Given the description of an element on the screen output the (x, y) to click on. 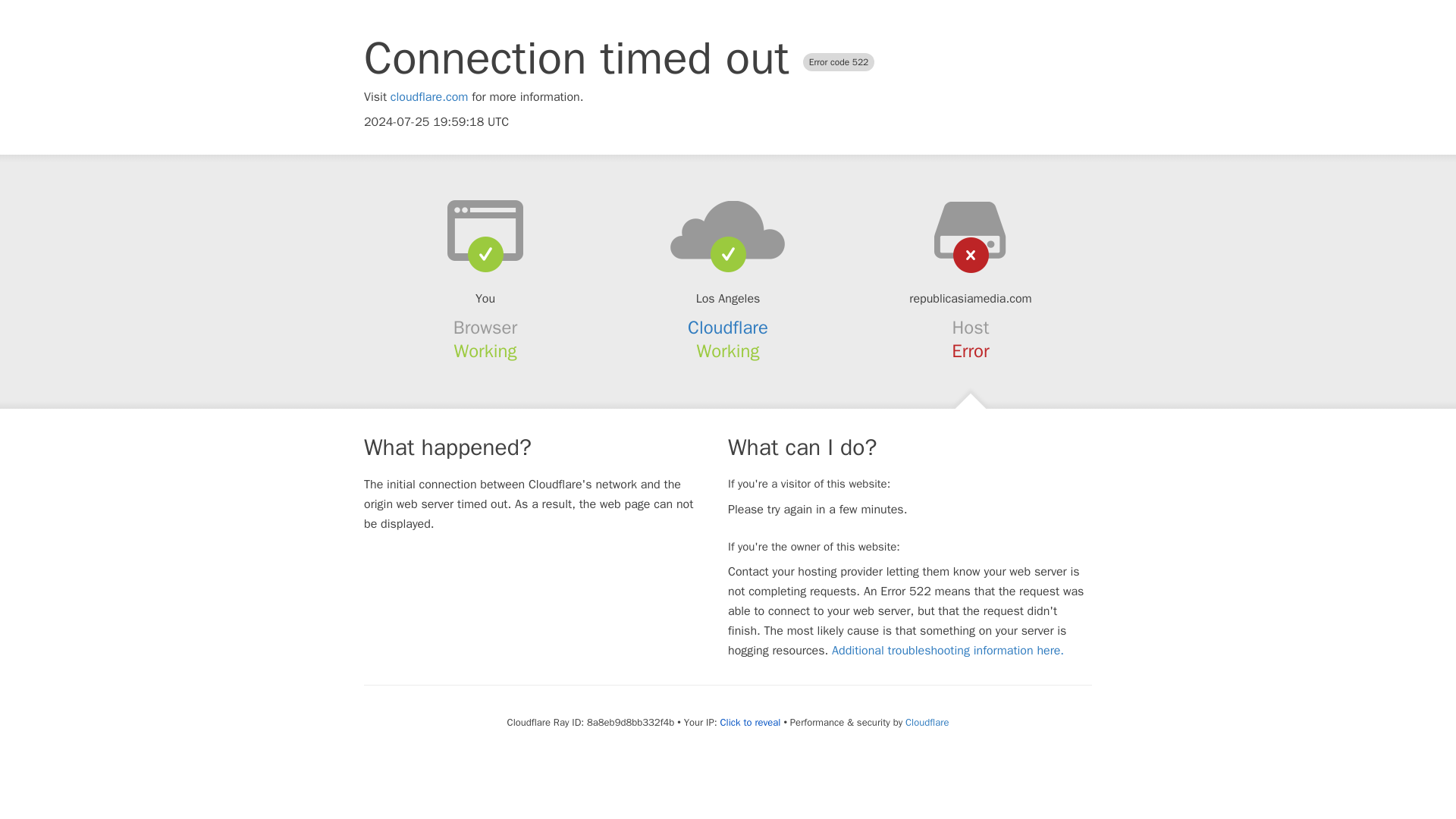
Cloudflare (727, 327)
cloudflare.com (429, 96)
Cloudflare (927, 721)
Click to reveal (750, 722)
Additional troubleshooting information here. (947, 650)
